Given the description of an element on the screen output the (x, y) to click on. 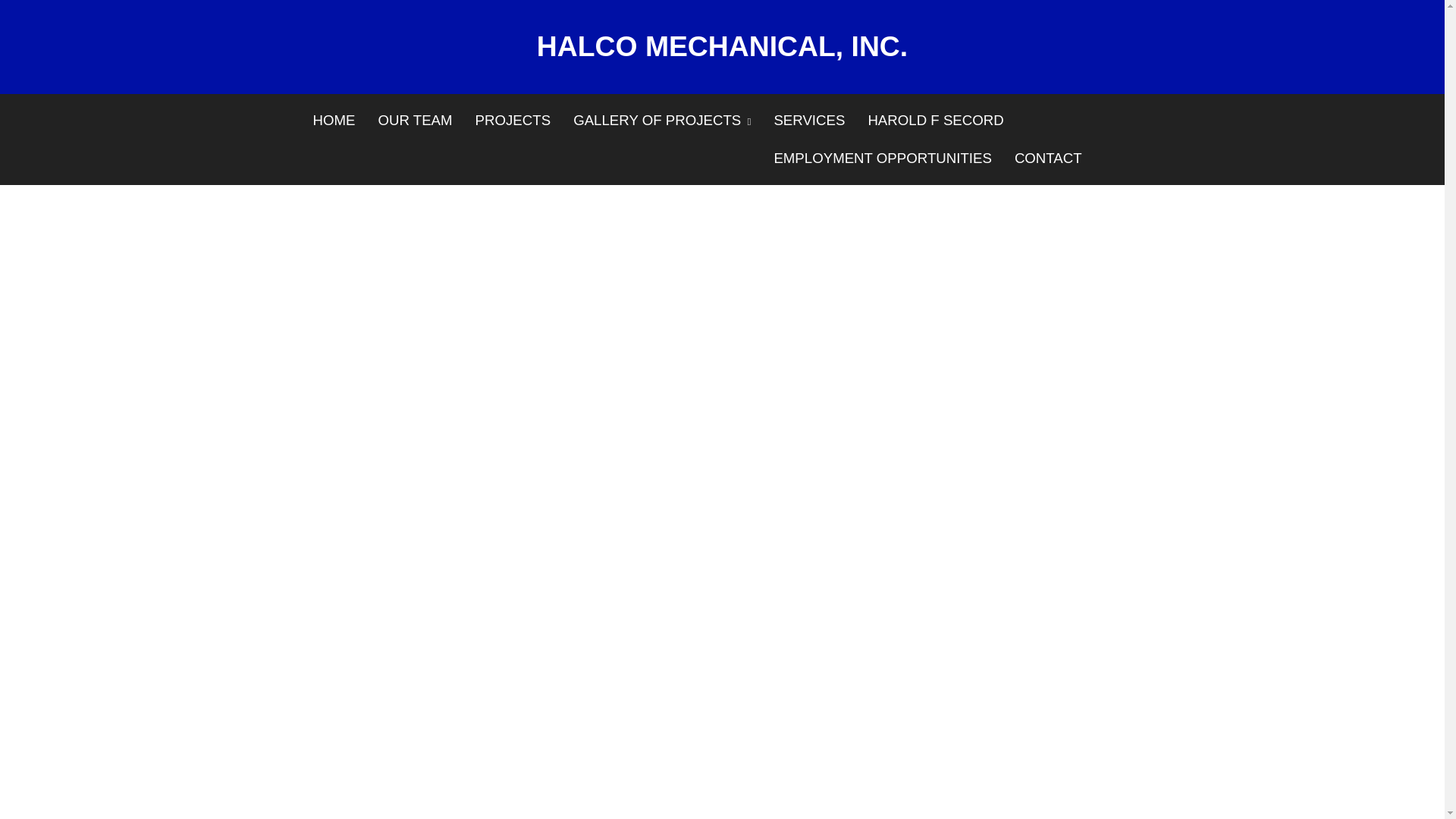
HOME (333, 120)
HAROLD F SECORD (935, 120)
EMPLOYMENT OPPORTUNITIES (882, 158)
HALCO MECHANICAL, INC. (721, 46)
GALLERY OF PROJECTS (661, 120)
SERVICES (808, 120)
PROJECTS (513, 120)
OUR TEAM (414, 120)
CONTACT (1048, 158)
